Given the description of an element on the screen output the (x, y) to click on. 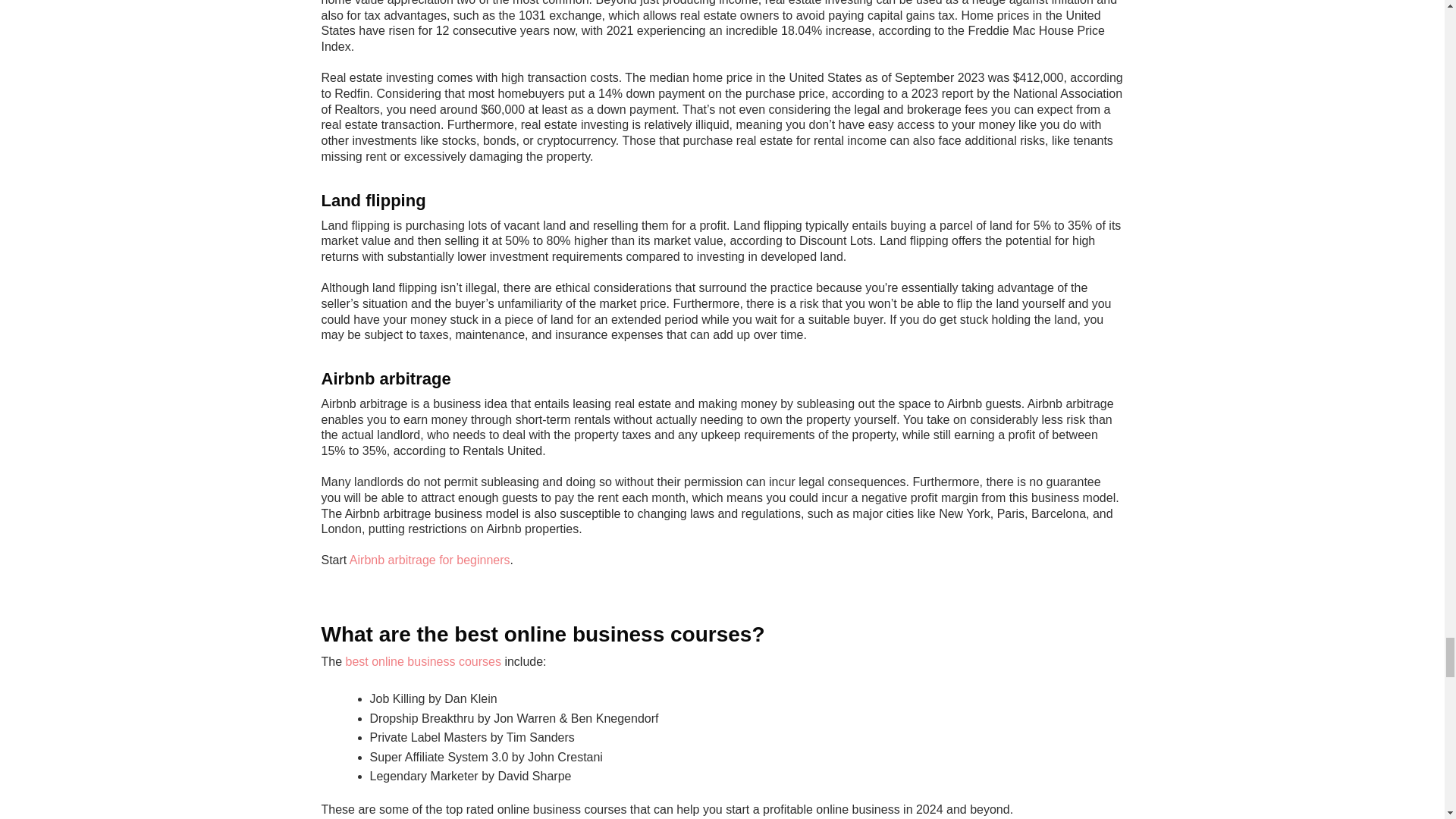
best online business courses (423, 661)
Airbnb arbitrage for beginners (430, 559)
